Given the description of an element on the screen output the (x, y) to click on. 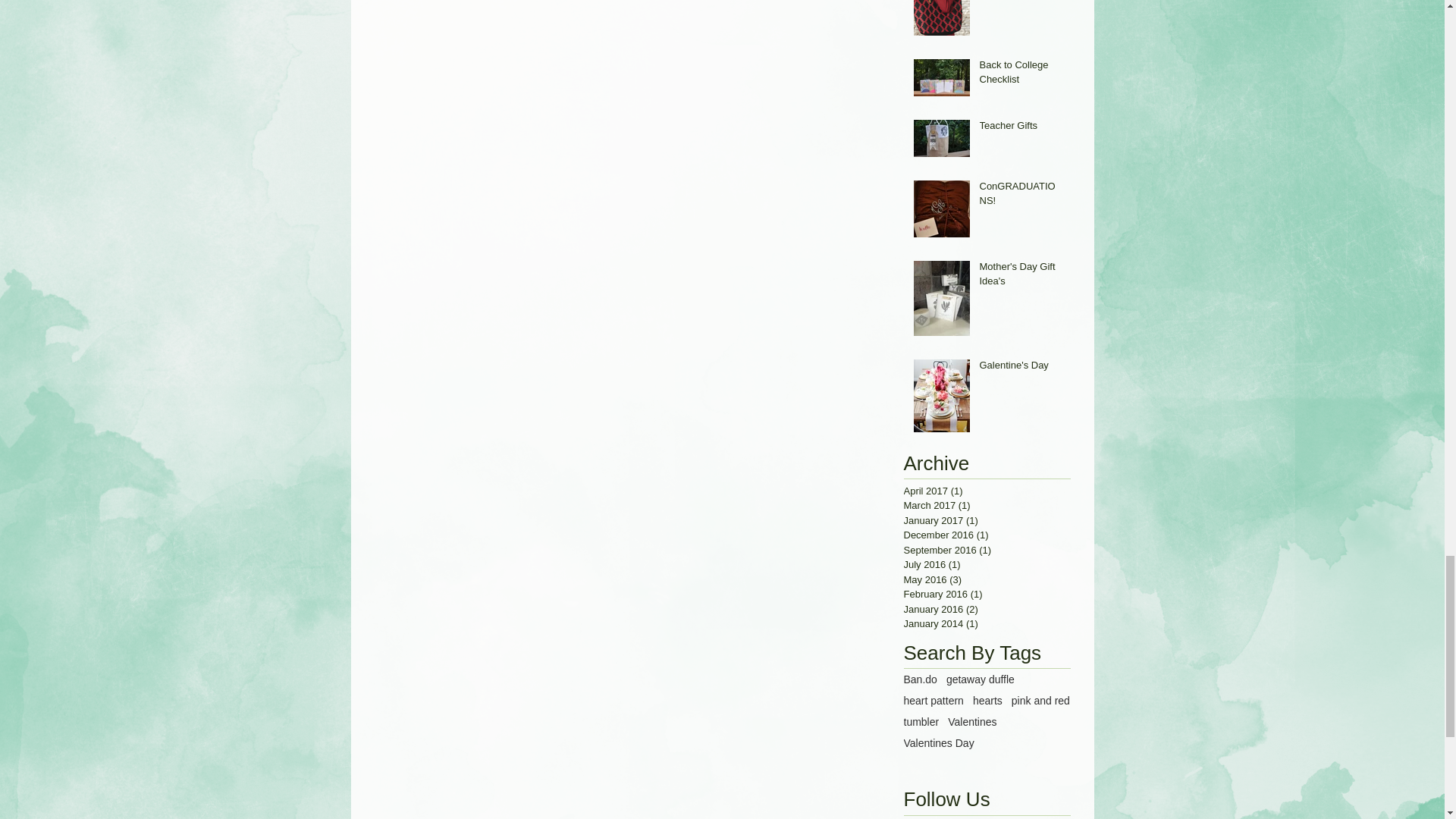
Back to College Checklist (1020, 74)
Teacher Gifts (1020, 128)
heart pattern (933, 700)
pink and red (1040, 700)
Valentines (971, 721)
Galentine's Day (1020, 368)
Ban.do (920, 679)
ConGRADUATIONS! (1020, 195)
hearts (987, 700)
Mother's Day Gift Idea's (1020, 276)
